Given the description of an element on the screen output the (x, y) to click on. 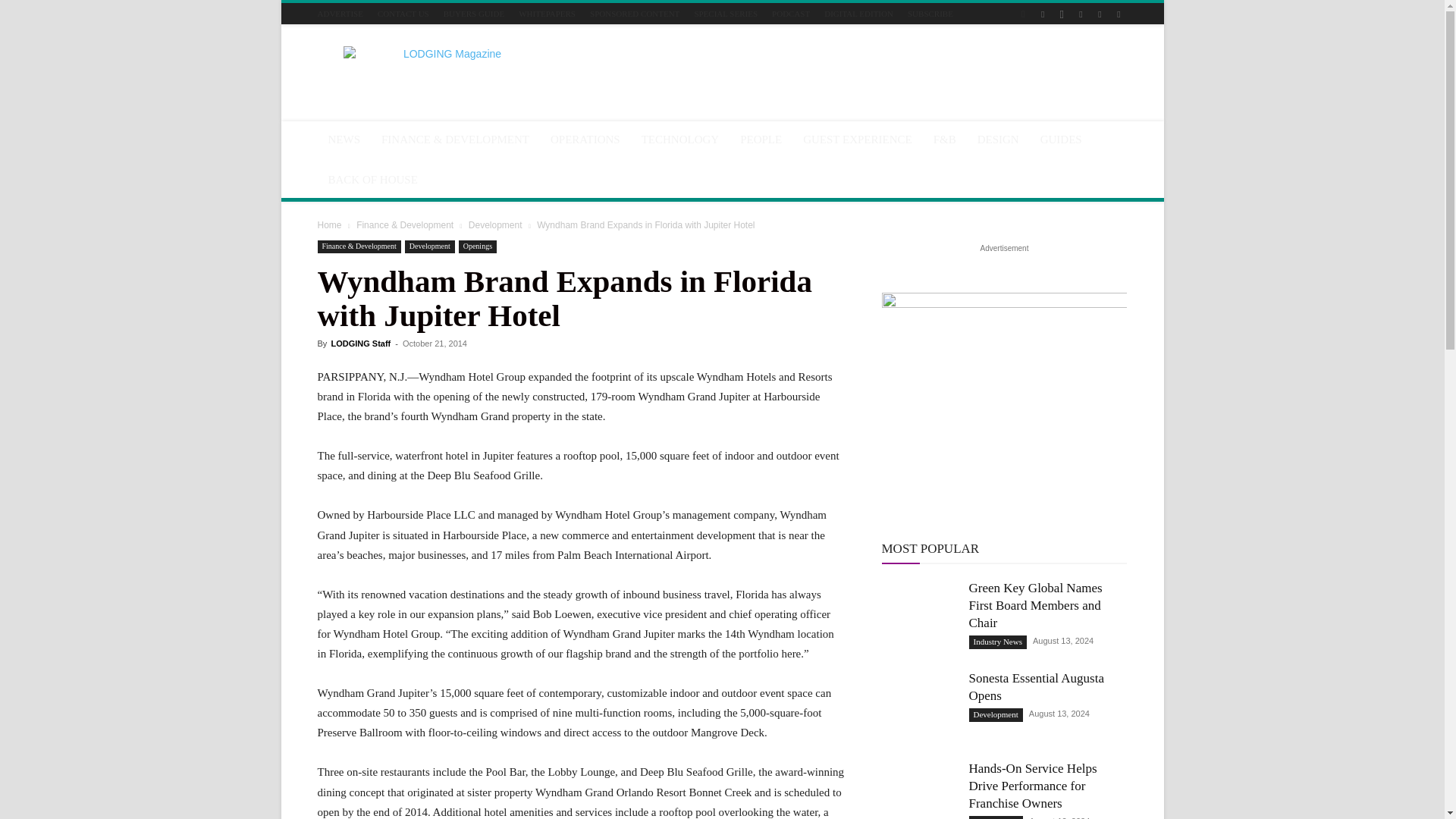
Search (1085, 67)
DIGITAL EDITION (858, 13)
WHITEPAPERS (546, 13)
ADVERTISE (339, 13)
SPONSORED CONTENT (634, 13)
SPECIAL SERIES (725, 13)
View all posts in Development (495, 225)
BUYERS GUIDE (473, 13)
SUBSCRIBE (930, 13)
CONTACT US (403, 13)
